Given the description of an element on the screen output the (x, y) to click on. 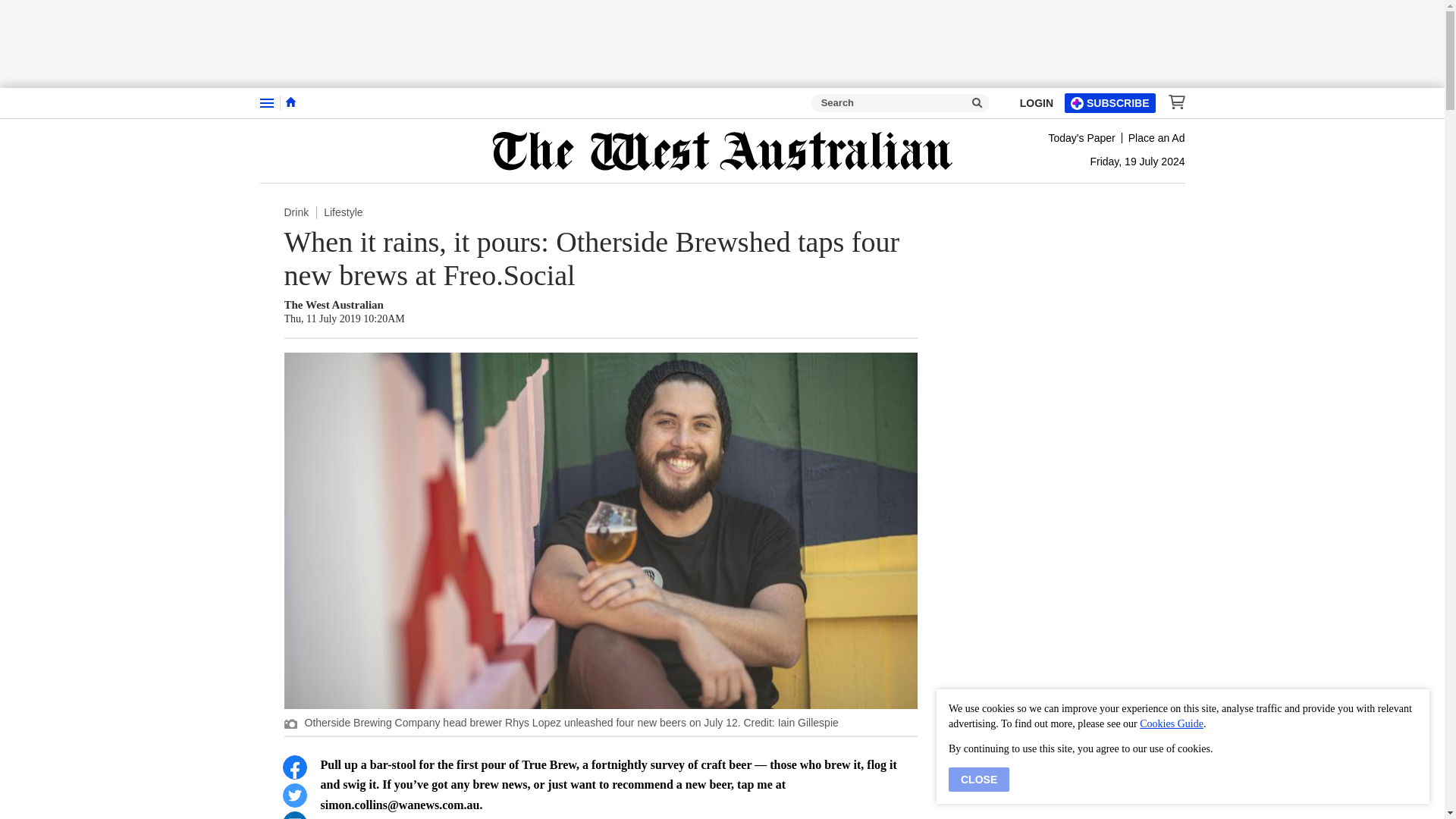
Home (290, 102)
Please enter a search term. (977, 102)
Empty Cart Icon (1172, 102)
